Given the description of an element on the screen output the (x, y) to click on. 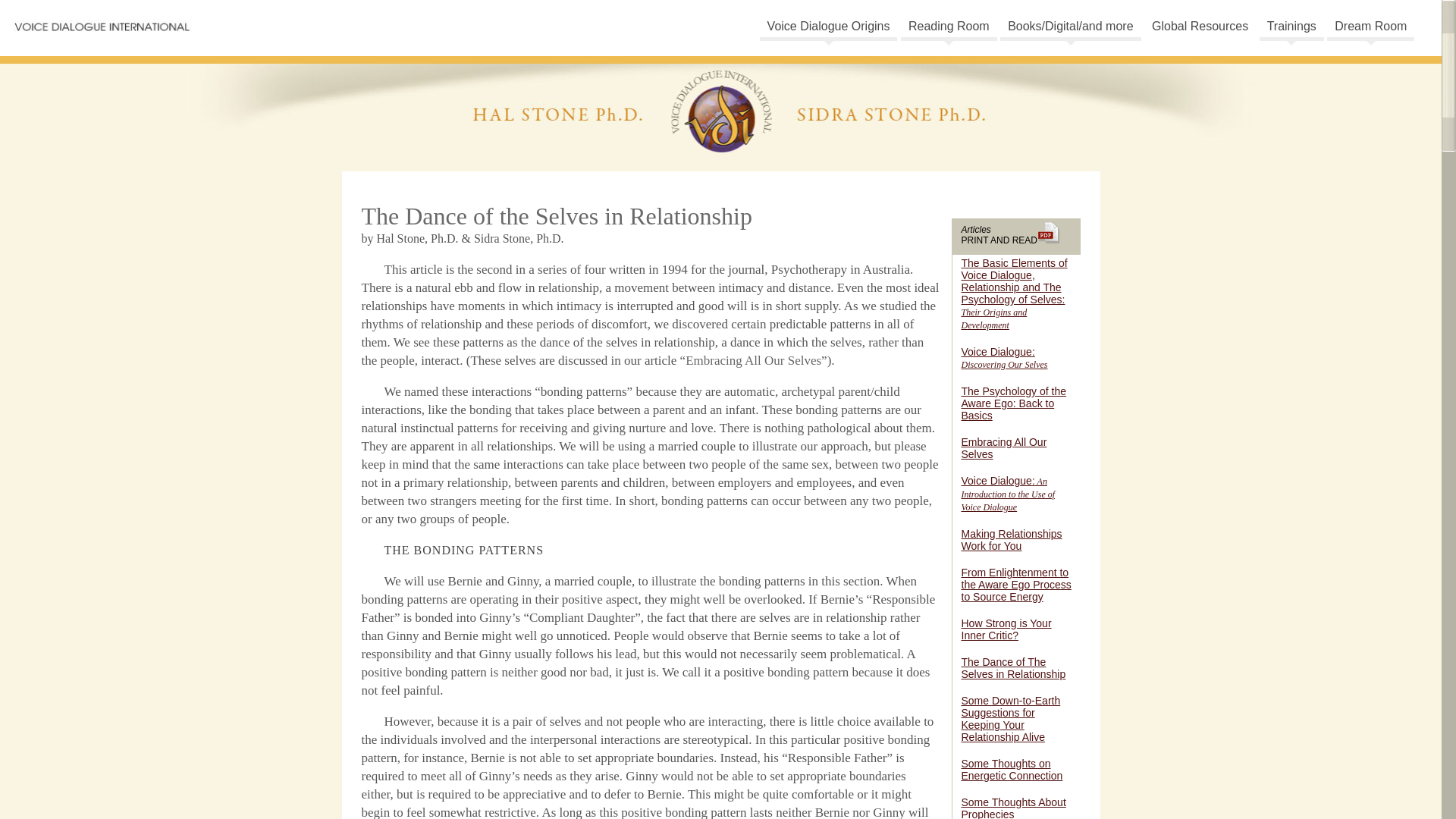
Some Thoughts on Energetic Connection (1011, 769)
The Dance of The Selves in Relationship (1012, 668)
How Strong is Your Inner Critic? (1005, 629)
The Psychology of the Aware Ego: Back to Basics (1013, 402)
Some Thoughts About Prophecies (1012, 807)
Making Relationships Work for You (1011, 539)
Embracing All Our Selves (1003, 447)
From Enlightenment to the Aware Ego Process to Source Energy (1015, 584)
Embracing All Our Selves (753, 359)
Voice Dialogue: Discovering Our Selves (1004, 357)
Voice Dialogue: An Introduction to the Use of Voice Dialogue (1007, 493)
